Given the description of an element on the screen output the (x, y) to click on. 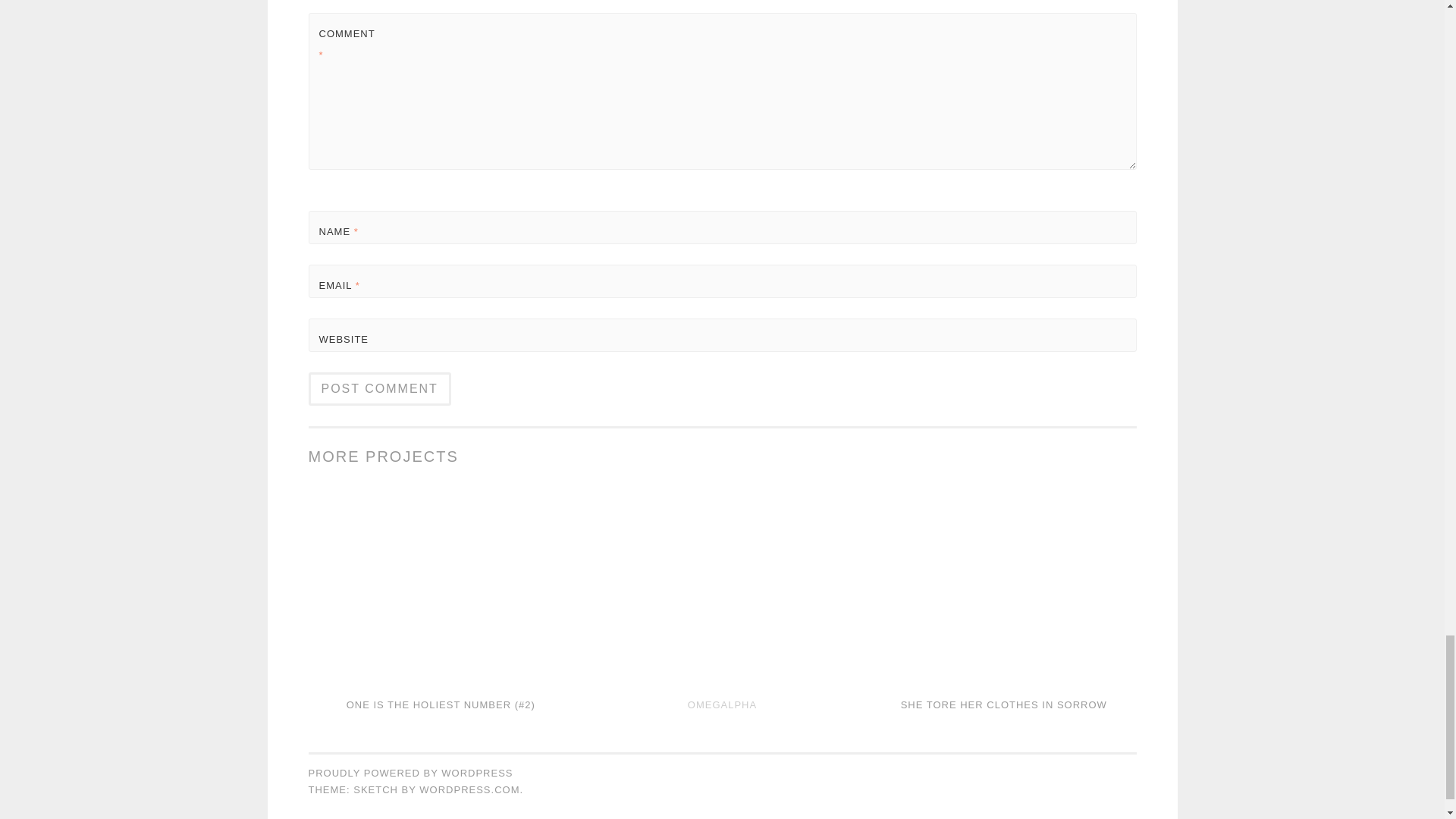
Post Comment (378, 388)
PROUDLY POWERED BY WORDPRESS (409, 772)
SHE TORE HER CLOTHES IN SORROW (1003, 704)
WORDPRESS.COM (469, 789)
OMEGALPHA (722, 704)
Post Comment (378, 388)
